Given the description of an element on the screen output the (x, y) to click on. 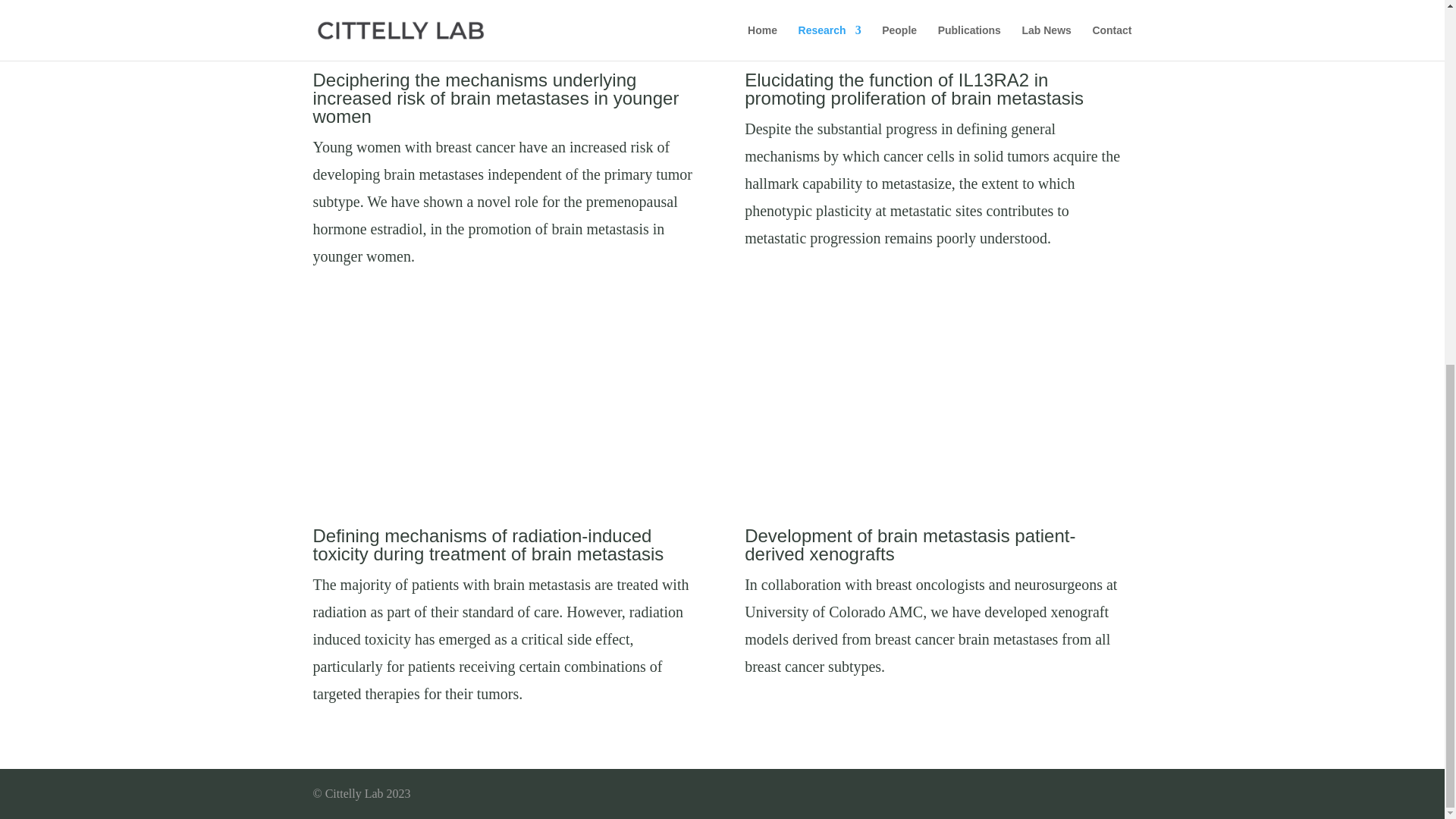
Development of brain metastasis patient-derived xenografts (909, 544)
